Given the description of an element on the screen output the (x, y) to click on. 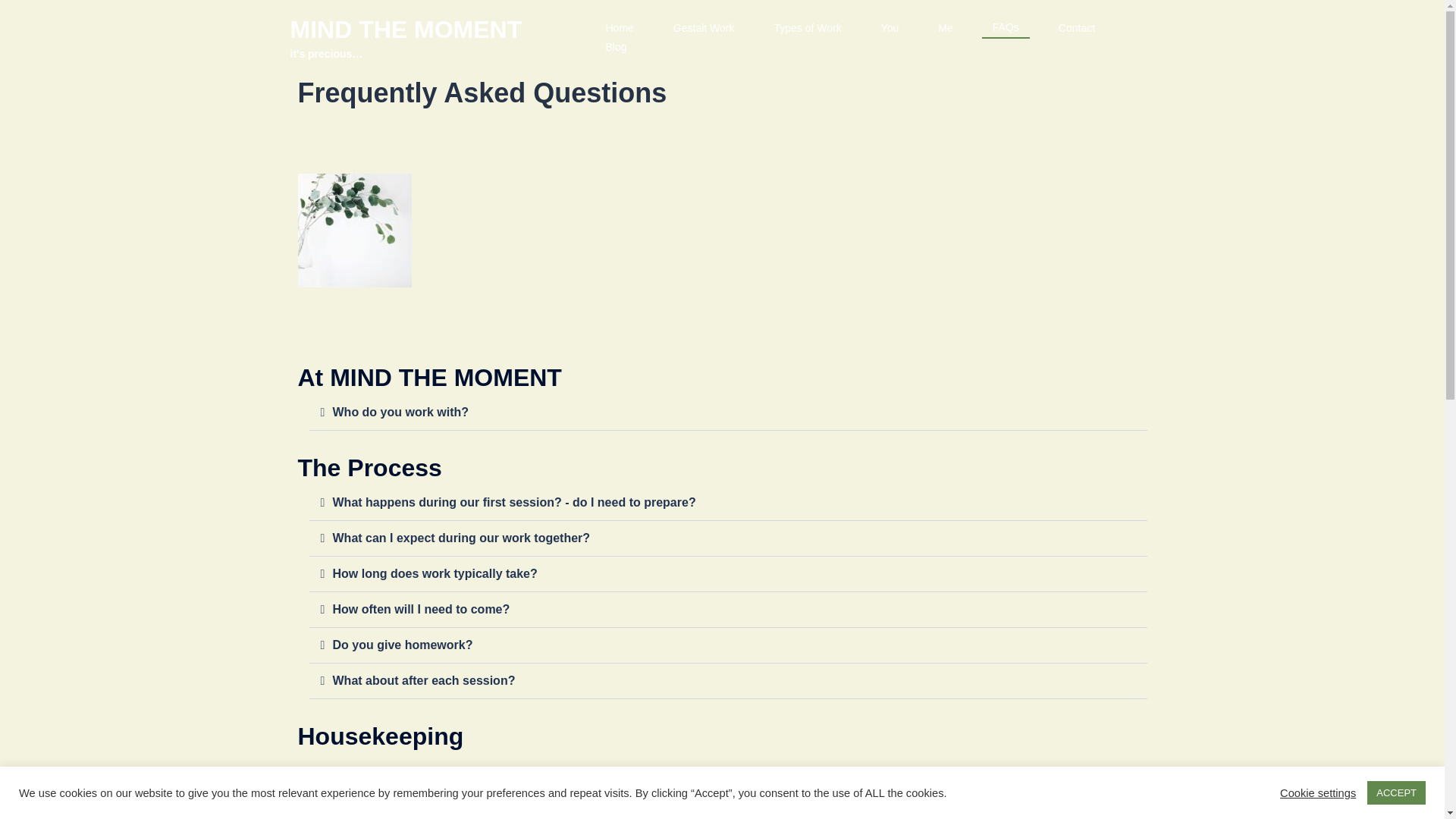
How long does work typically take? (434, 573)
How often will I need to come? (420, 608)
Gestalt Work (703, 28)
Types of Work (807, 28)
Contact (1076, 28)
You (889, 28)
Who do you work with? (399, 411)
Do you give homework? (401, 644)
Blog (615, 47)
Home (619, 28)
What can I expect during our work together? (460, 537)
How is your availability? (402, 807)
What about after each session? (423, 680)
MIND THE MOMENT (405, 29)
